Given the description of an element on the screen output the (x, y) to click on. 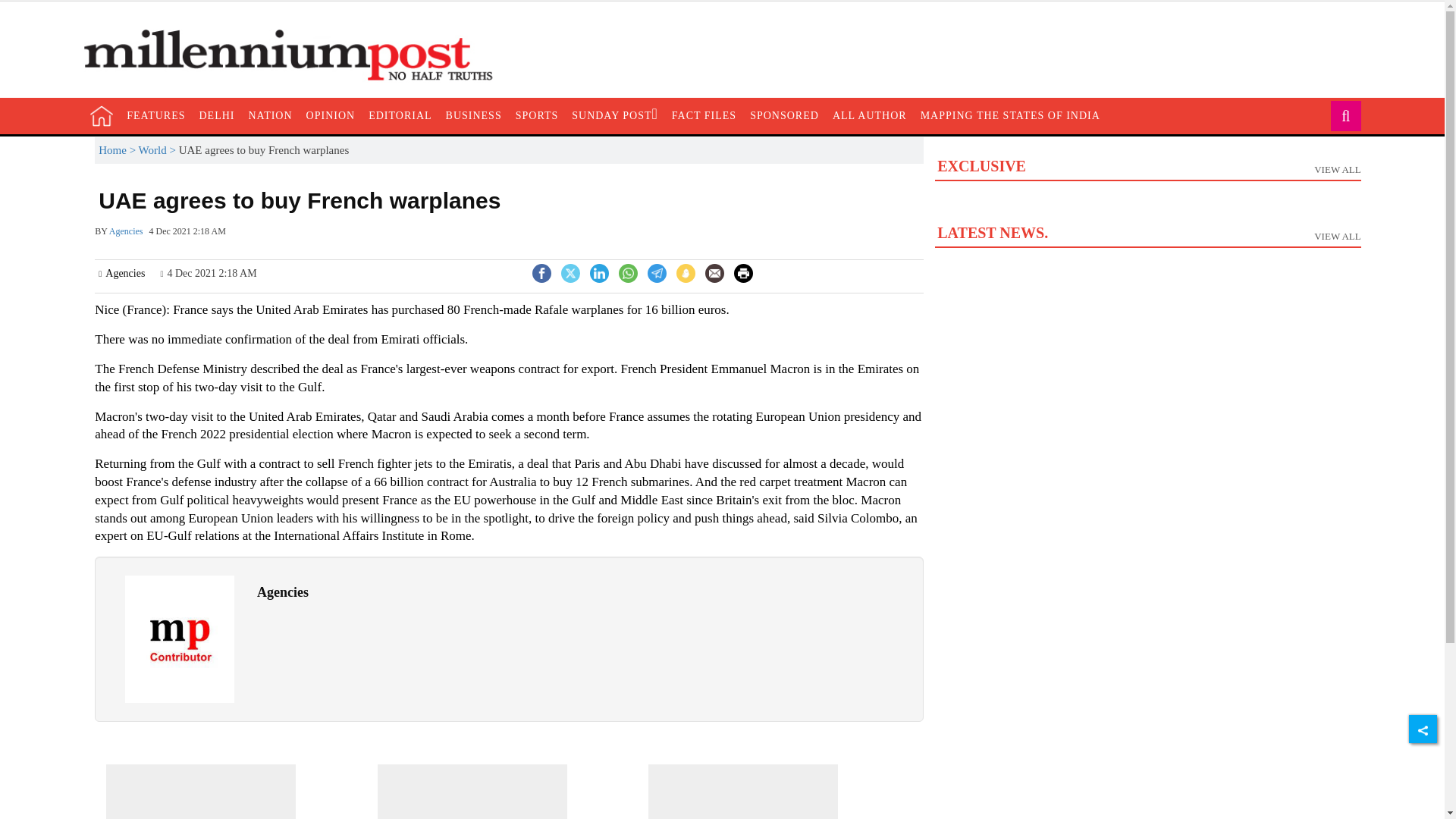
whatsapp (628, 273)
NATION (269, 115)
LinkedIn (598, 271)
EDITORIAL (399, 115)
home (101, 115)
ALL AUTHOR (869, 115)
Facebook (541, 271)
BUSINESS (473, 115)
FEATURES (155, 115)
Email (713, 272)
MillenniumPost (295, 55)
MAPPING THE STATES OF INDIA (1010, 115)
telegram (656, 273)
SPORTS (537, 115)
facebook (541, 273)
